Given the description of an element on the screen output the (x, y) to click on. 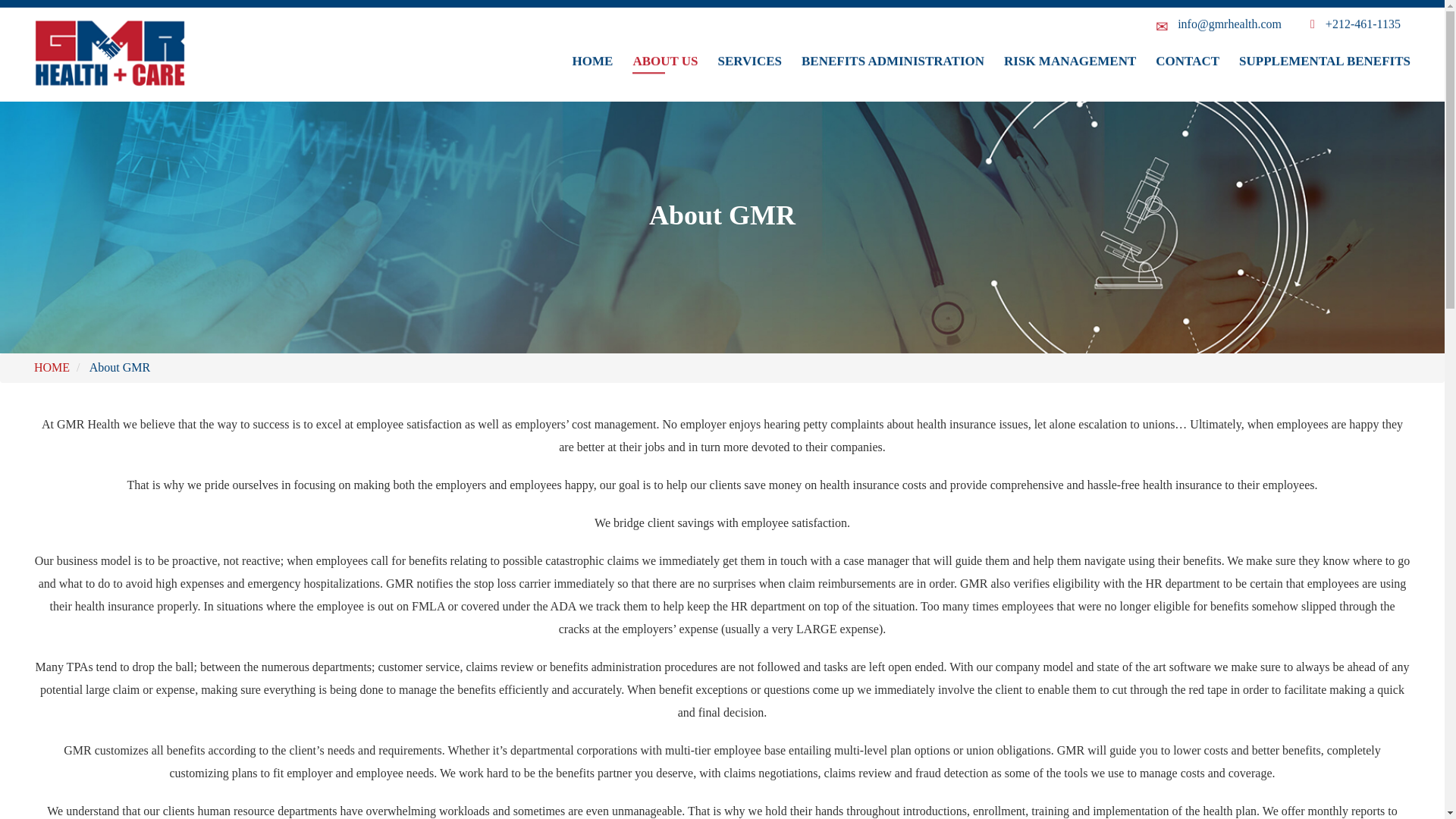
HOME (51, 367)
SUPPLEMENTAL BENEFITS (1324, 1)
CONTACT (1188, 1)
